Given the description of an element on the screen output the (x, y) to click on. 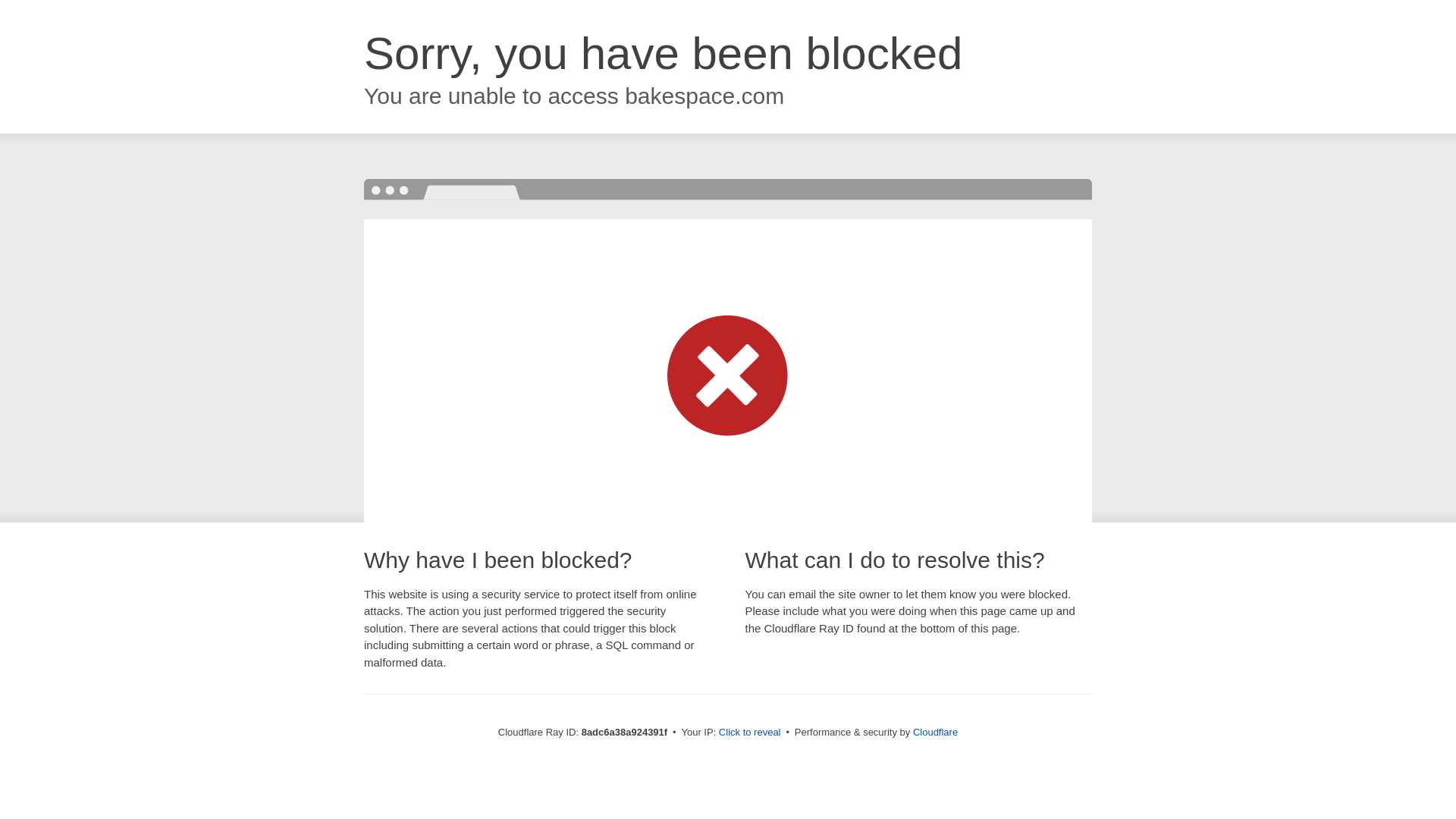
Click to reveal (749, 732)
Cloudflare (935, 731)
